Given the description of an element on the screen output the (x, y) to click on. 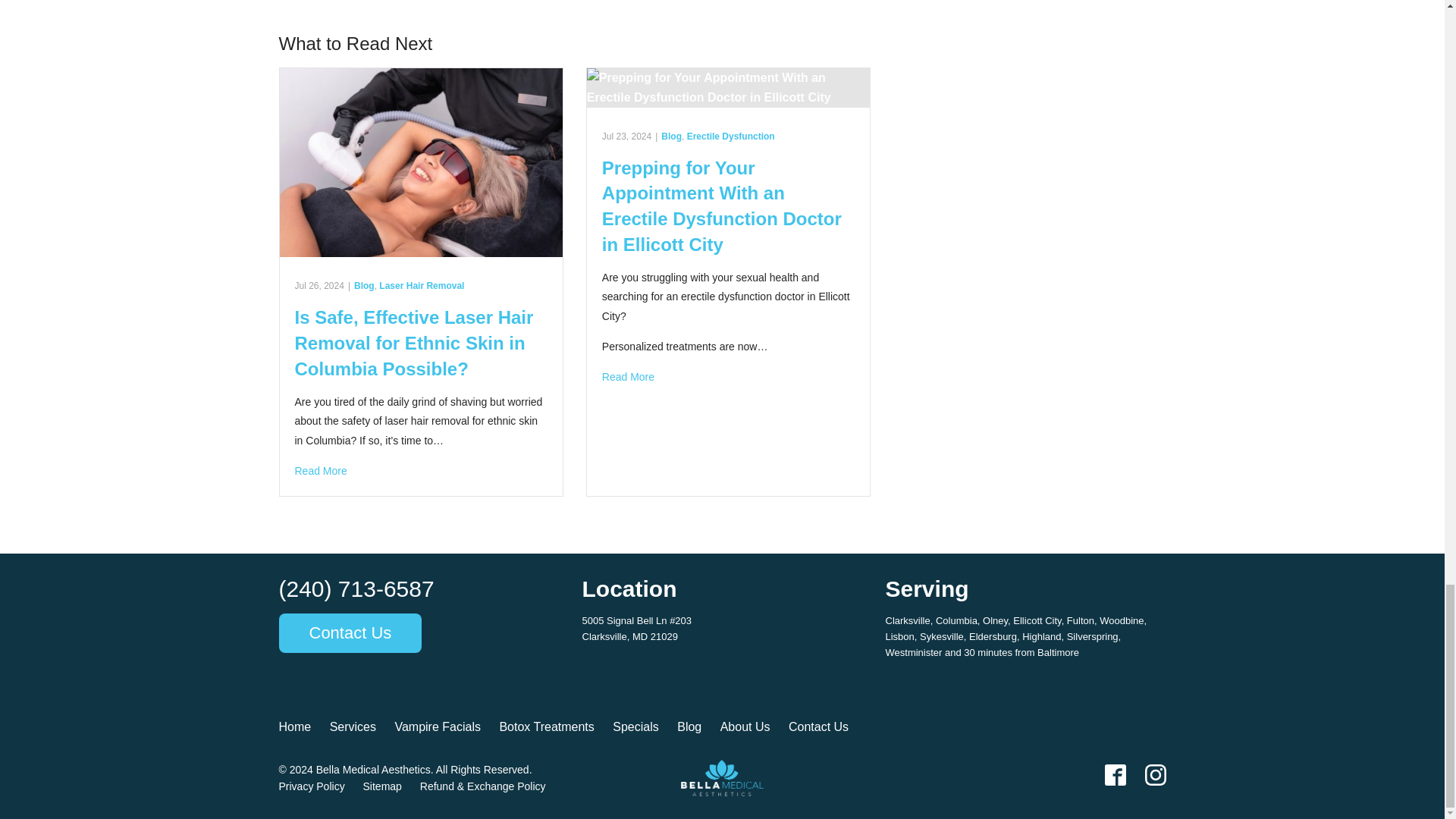
facebook (1115, 774)
instagram (1155, 774)
